Given the description of an element on the screen output the (x, y) to click on. 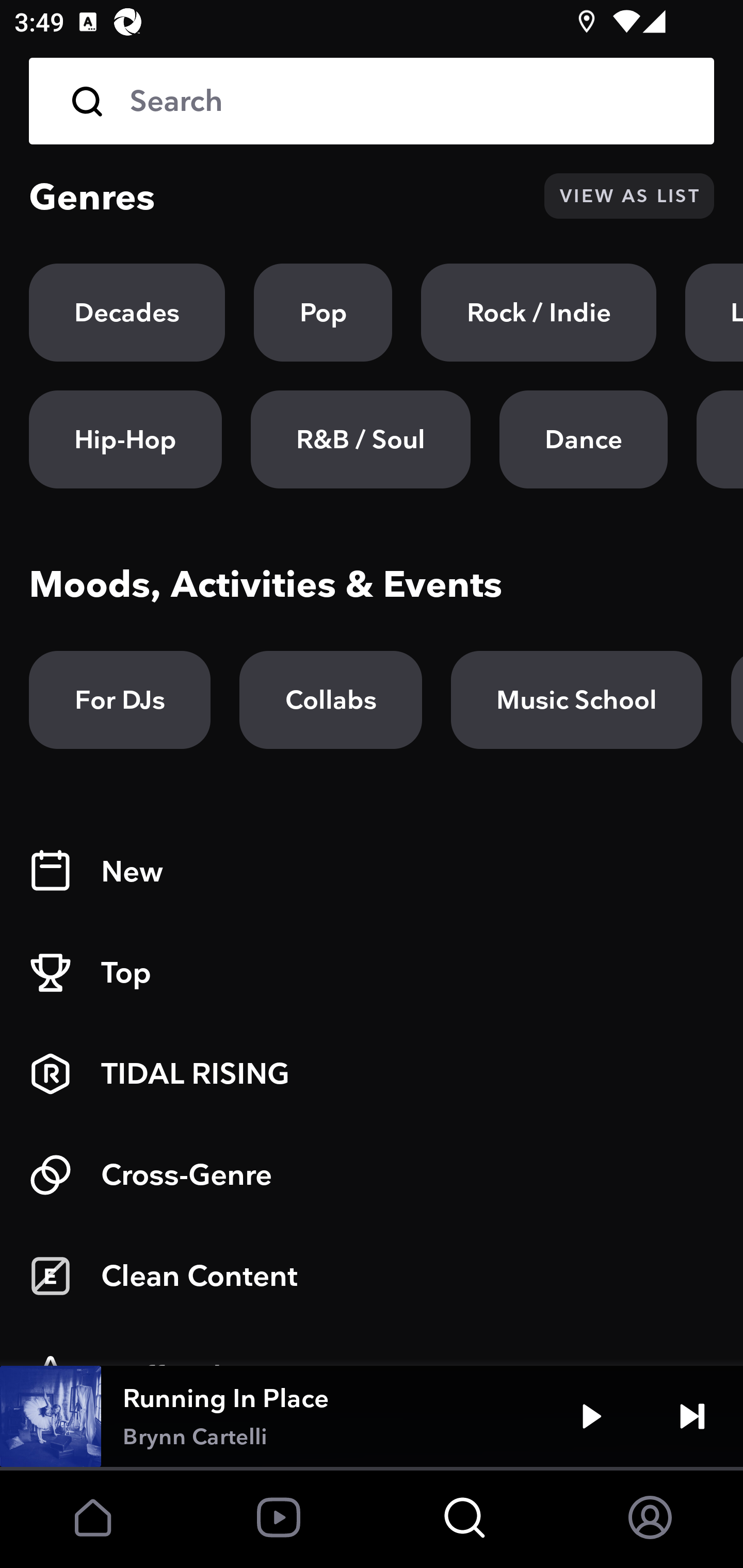
Search (371, 101)
Search (407, 100)
VIEW AS LIST (629, 195)
Decades (126, 312)
Pop (323, 312)
Rock / Indie (538, 312)
Hip-Hop (125, 439)
R&B / Soul (360, 439)
Dance (583, 439)
For DJs (119, 699)
Collabs (330, 699)
Music School (576, 699)
New (371, 871)
Top (371, 972)
TIDAL RISING (371, 1073)
Cross-Genre (371, 1175)
Clean Content (371, 1276)
Running In Place Brynn Cartelli Play (371, 1416)
Play (590, 1416)
